Given the description of an element on the screen output the (x, y) to click on. 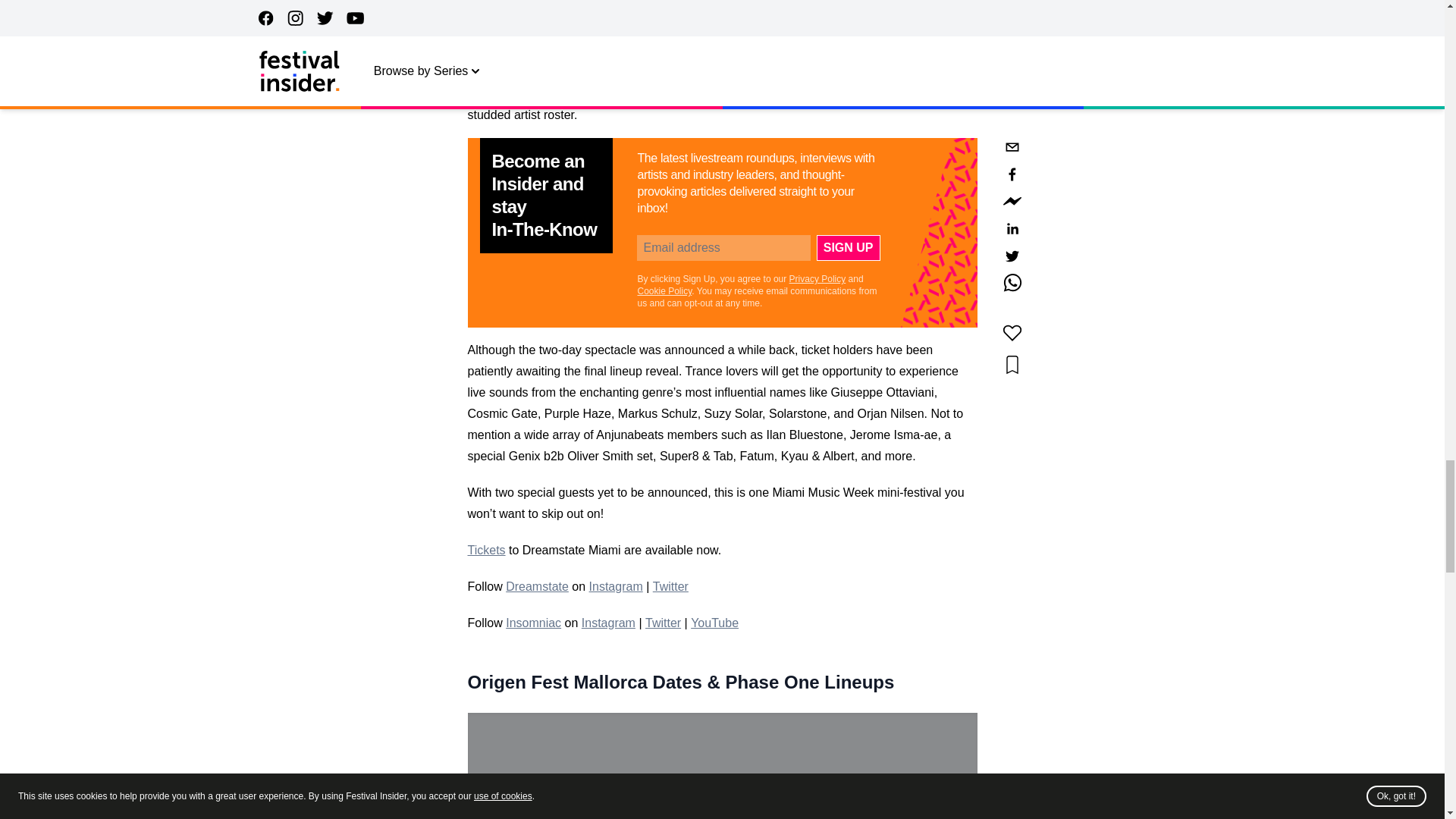
Instagram (616, 585)
Dreamstate (537, 585)
SIGN UP (848, 248)
Privacy Policy (817, 278)
Tickets (486, 549)
Insomniac (532, 622)
Instagram (607, 622)
Twitter (663, 622)
Cookie Policy (664, 290)
YouTube (714, 622)
